Given the description of an element on the screen output the (x, y) to click on. 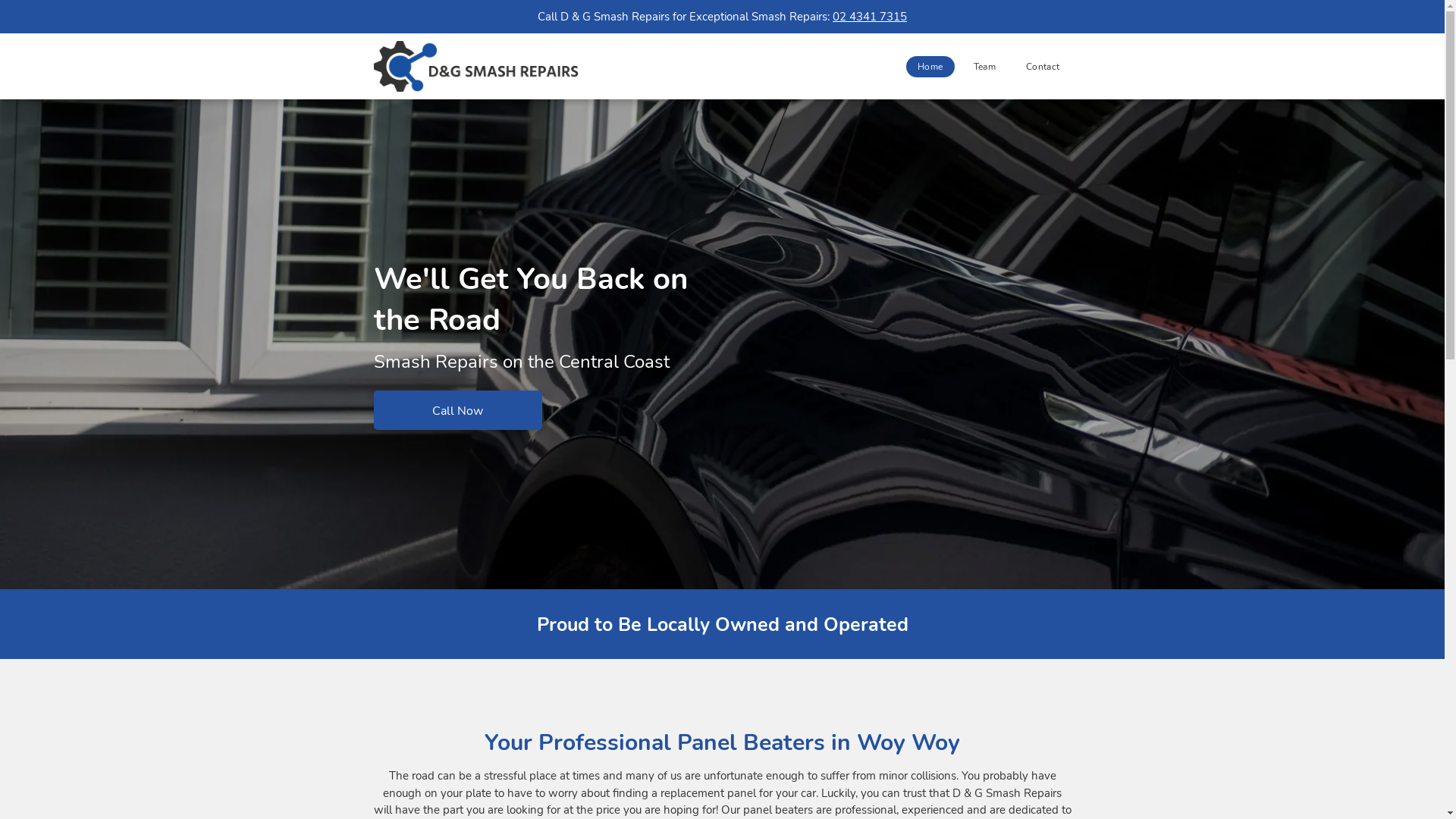
Contact Element type: text (1042, 66)
Home Element type: text (929, 66)
Call Now Element type: text (457, 409)
02 4341 7315 Element type: text (869, 16)
Team Element type: text (983, 66)
